Given the description of an element on the screen output the (x, y) to click on. 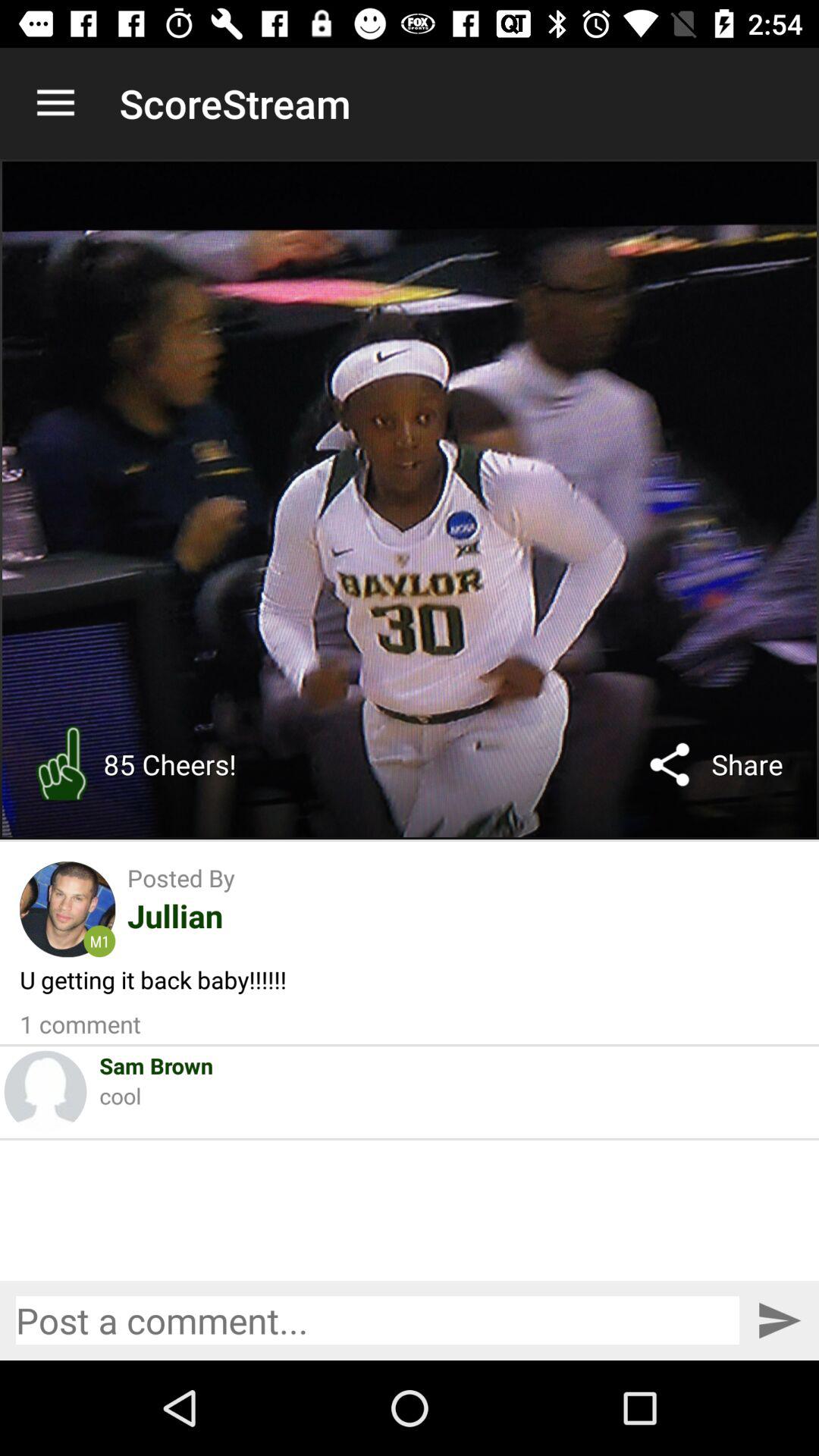
click item above u getting it icon (99, 941)
